Given the description of an element on the screen output the (x, y) to click on. 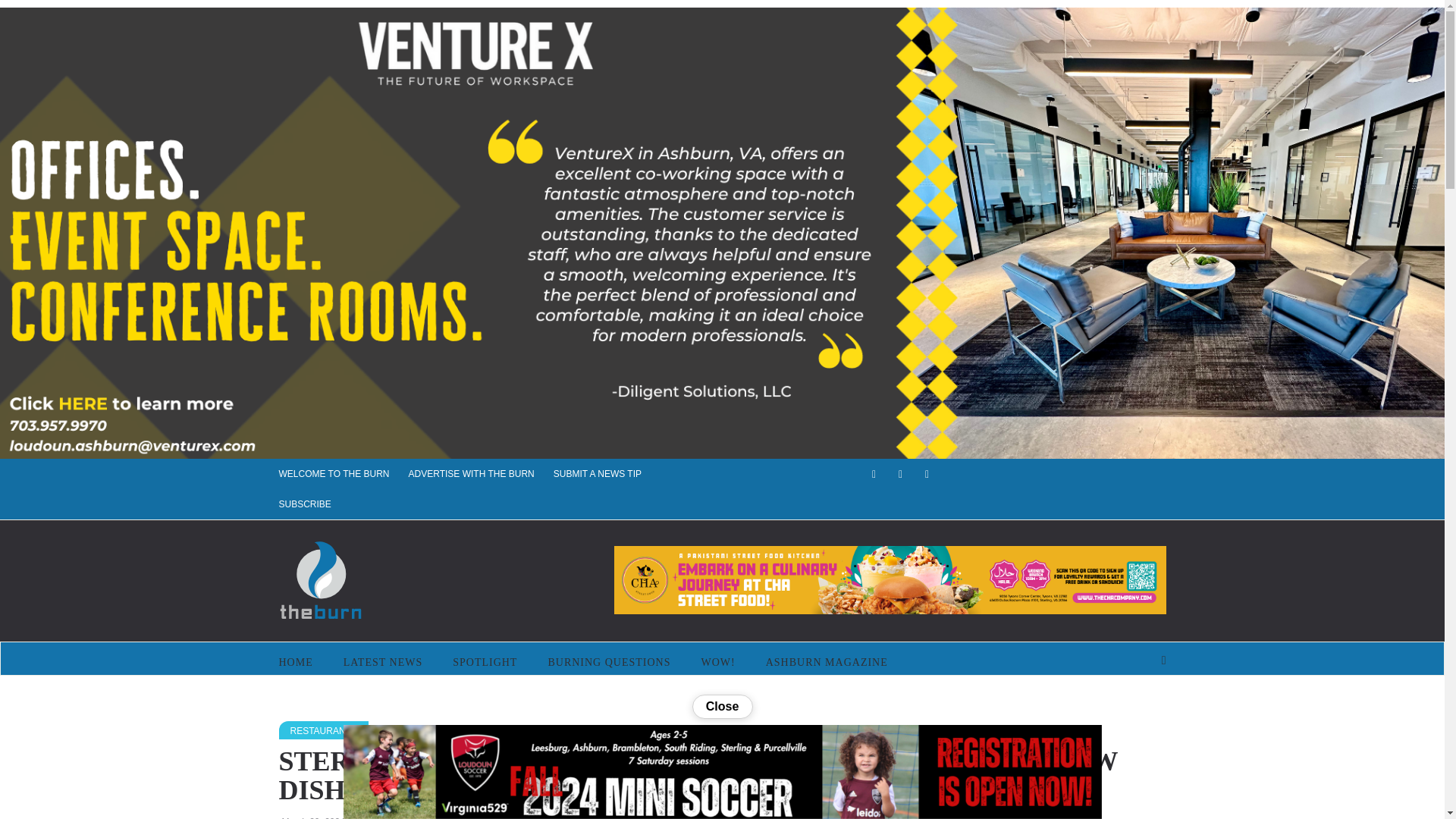
WELCOME TO THE BURN (344, 473)
March 20, 2024 (313, 817)
BURNING QUESTIONS (608, 662)
WOW! (717, 662)
ion-social-instagram (927, 473)
ion-social-twitter (899, 473)
ASHBURN MAGAZINE (826, 662)
RESTAURANTS (323, 730)
ADVERTISE WITH THE BURN (481, 473)
SUBSCRIBE (314, 503)
728 CHA Street Food Culinary Journey (890, 580)
SPOTLIGHT (485, 662)
ion-social-facebook (874, 473)
LATEST NEWS (383, 662)
HOME (304, 662)
